Given the description of an element on the screen output the (x, y) to click on. 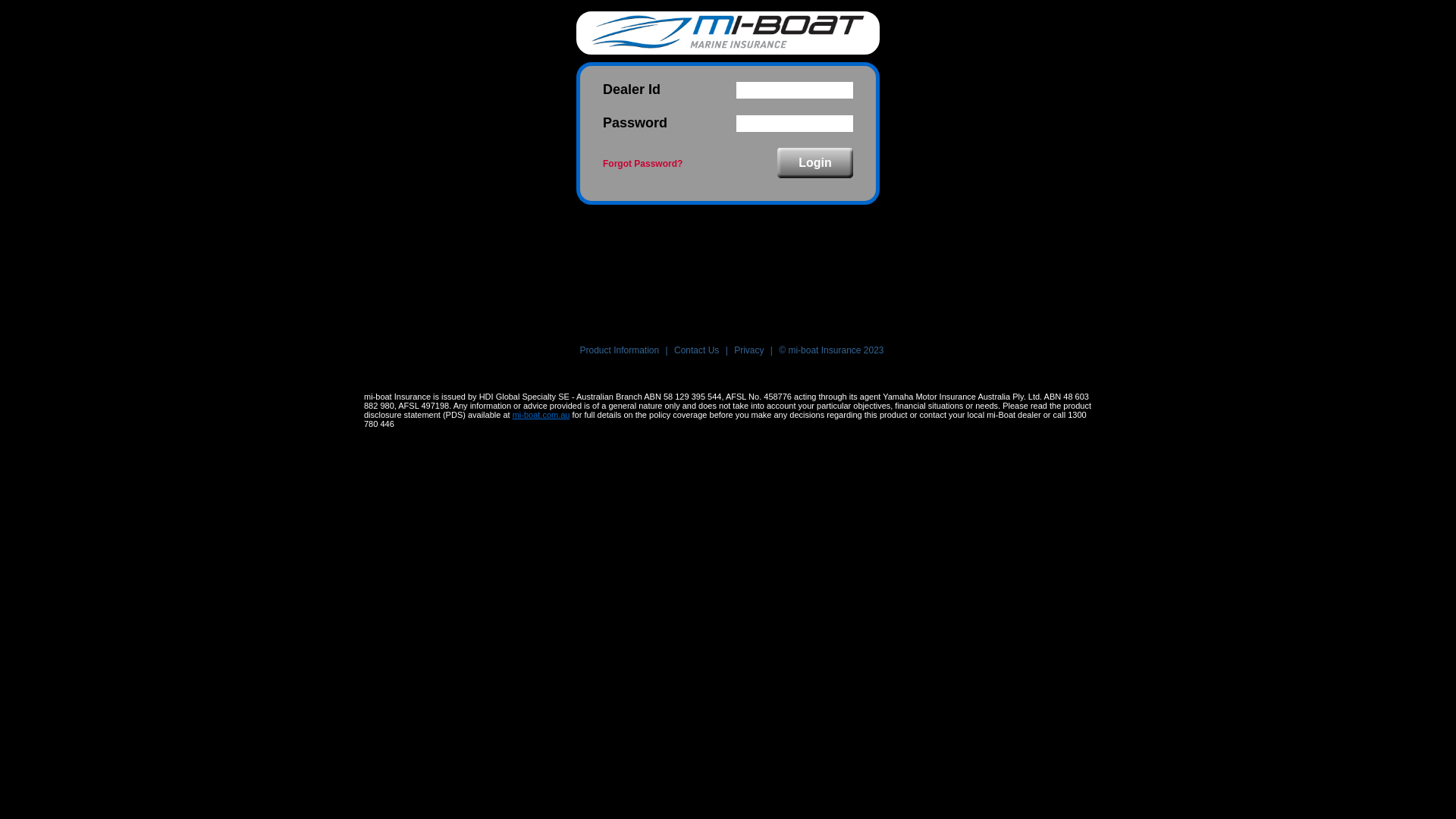
Privacy Element type: text (748, 350)
mi-boat.com.au Element type: text (541, 414)
Login Element type: text (815, 162)
Forgot Password? Element type: text (642, 163)
Contact Us Element type: text (696, 350)
mi-Boat Marine Insurance Element type: hover (727, 31)
Product Information Element type: text (618, 350)
